Given the description of an element on the screen output the (x, y) to click on. 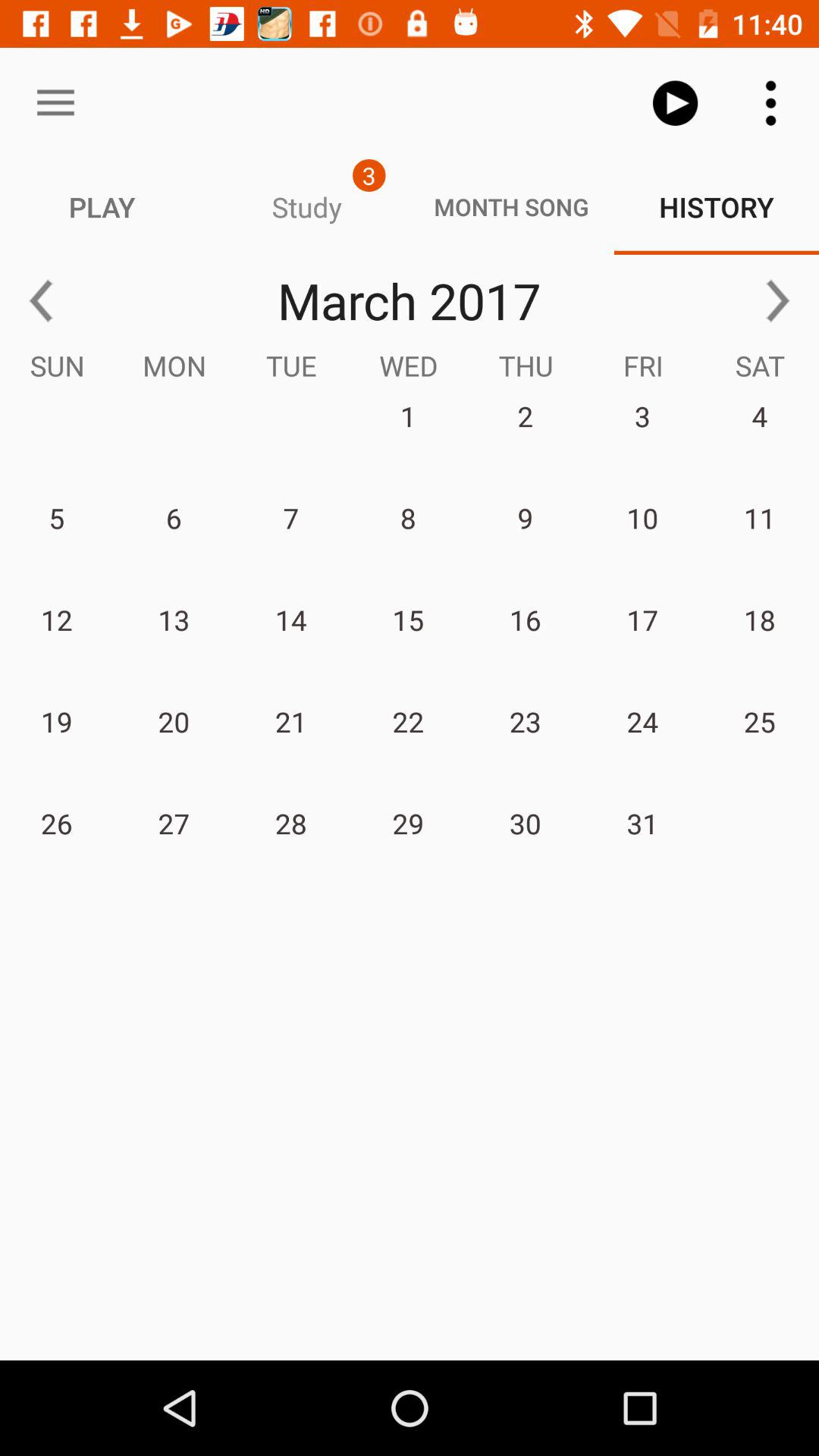
turn on icon above the play item (55, 103)
